Given the description of an element on the screen output the (x, y) to click on. 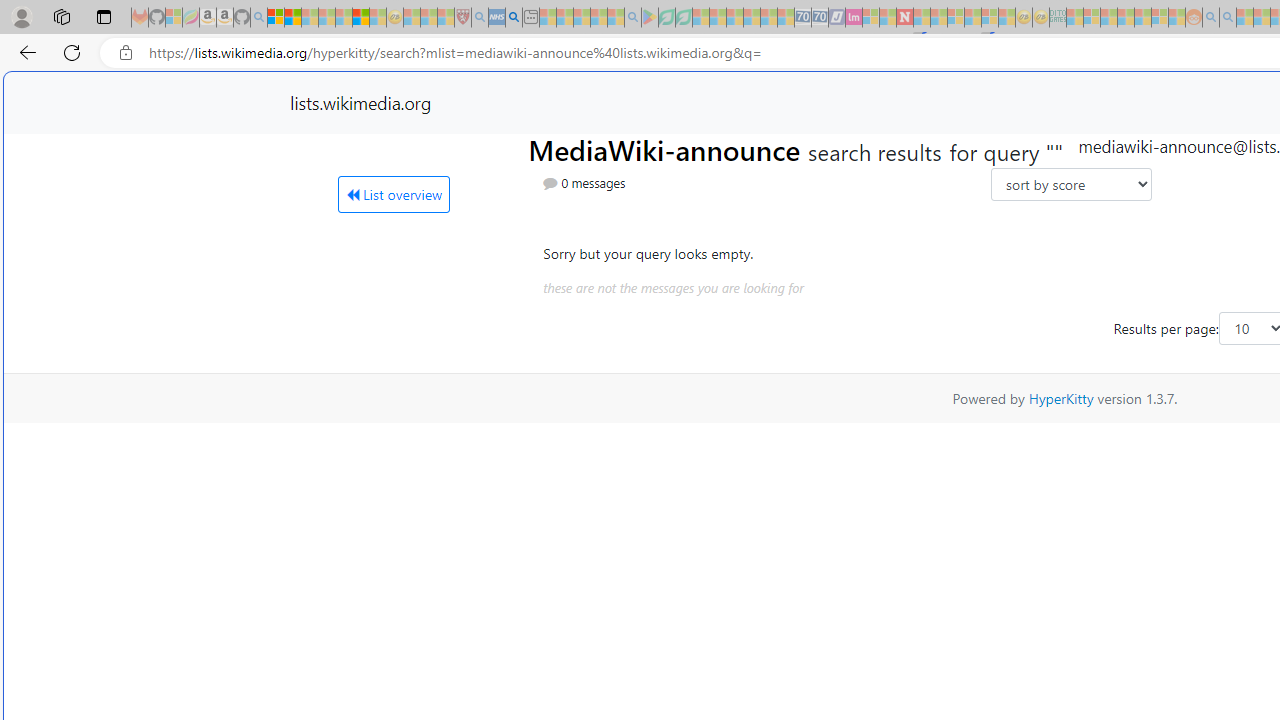
Kinda Frugal - MSN - Sleeping (1142, 17)
